Given the description of an element on the screen output the (x, y) to click on. 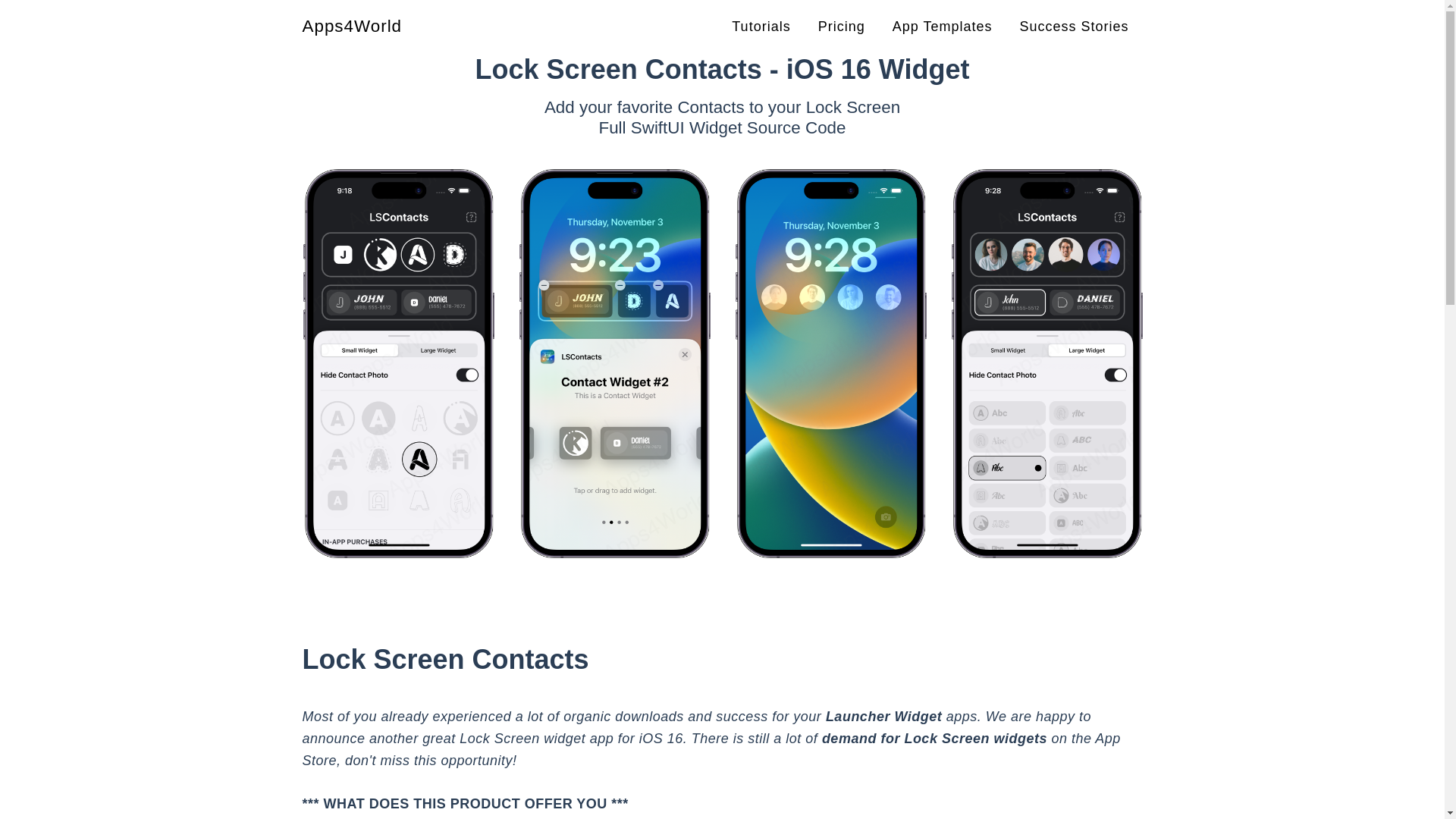
Apps4World (351, 26)
App Templates (942, 26)
Tutorials (761, 26)
Success Stories (1073, 26)
Pricing (841, 26)
